Given the description of an element on the screen output the (x, y) to click on. 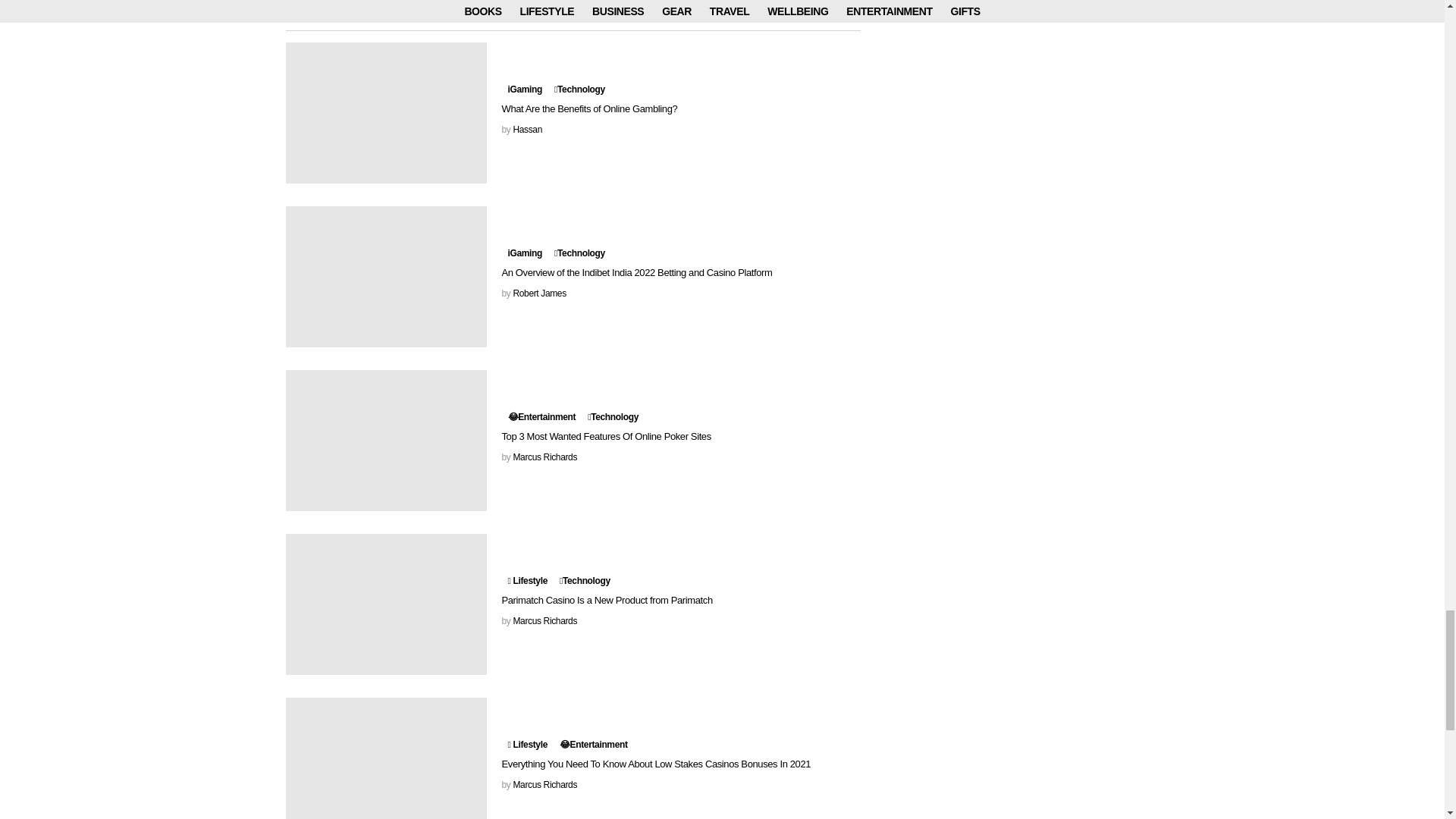
Top 3 Most Wanted Features Of Online Poker Sites (385, 440)
Posts by Robert James (539, 293)
Posts by Hassan (526, 129)
What Are the Benefits of Online Gambling? (385, 112)
